Given the description of an element on the screen output the (x, y) to click on. 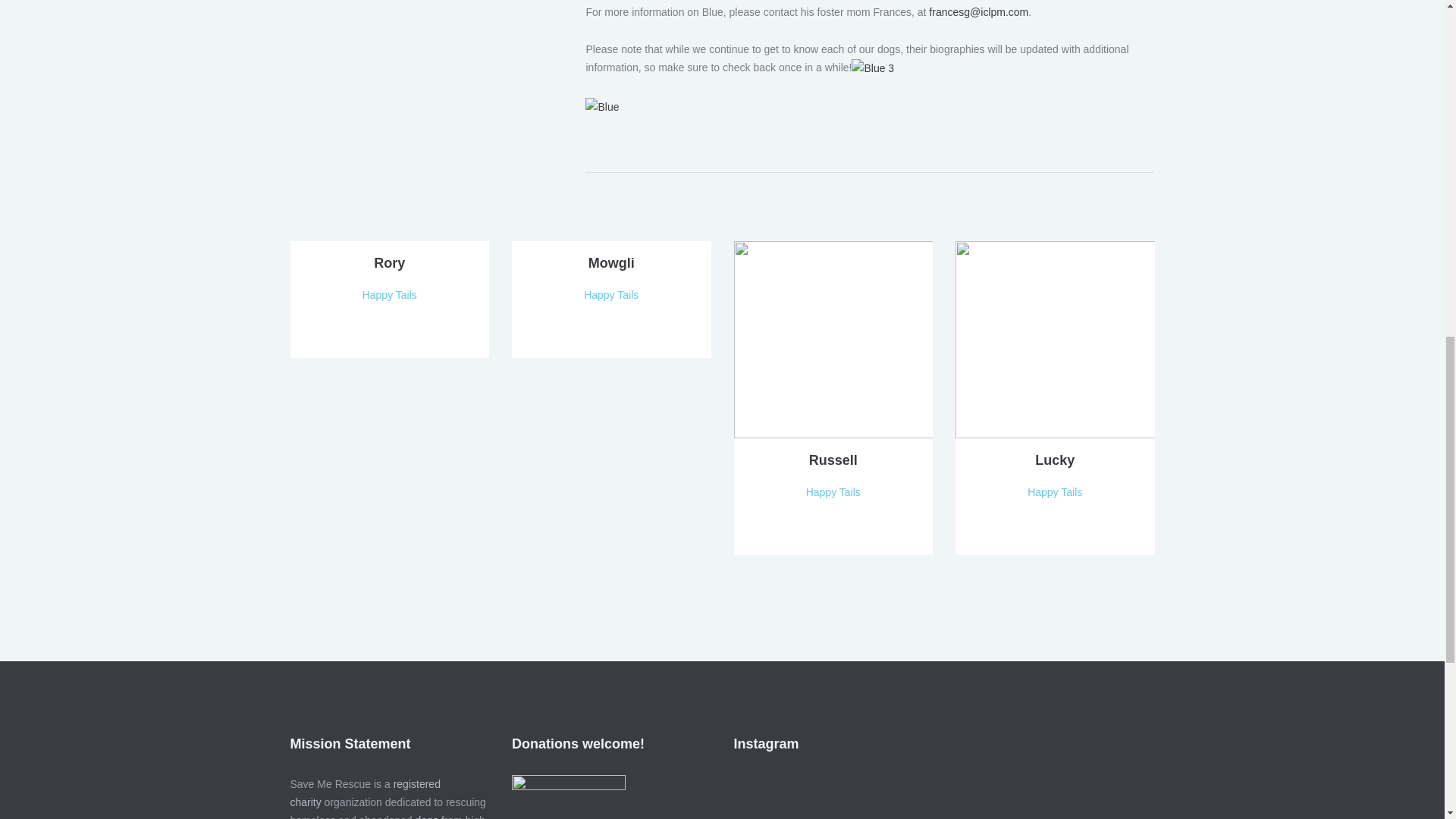
Happy Tails (611, 294)
Lucky (1054, 459)
Russell (833, 459)
Happy Tails (833, 492)
Happy Tails (389, 294)
Lucky (1054, 337)
Russell (833, 337)
Rory (389, 263)
Mowgli (611, 263)
